Given the description of an element on the screen output the (x, y) to click on. 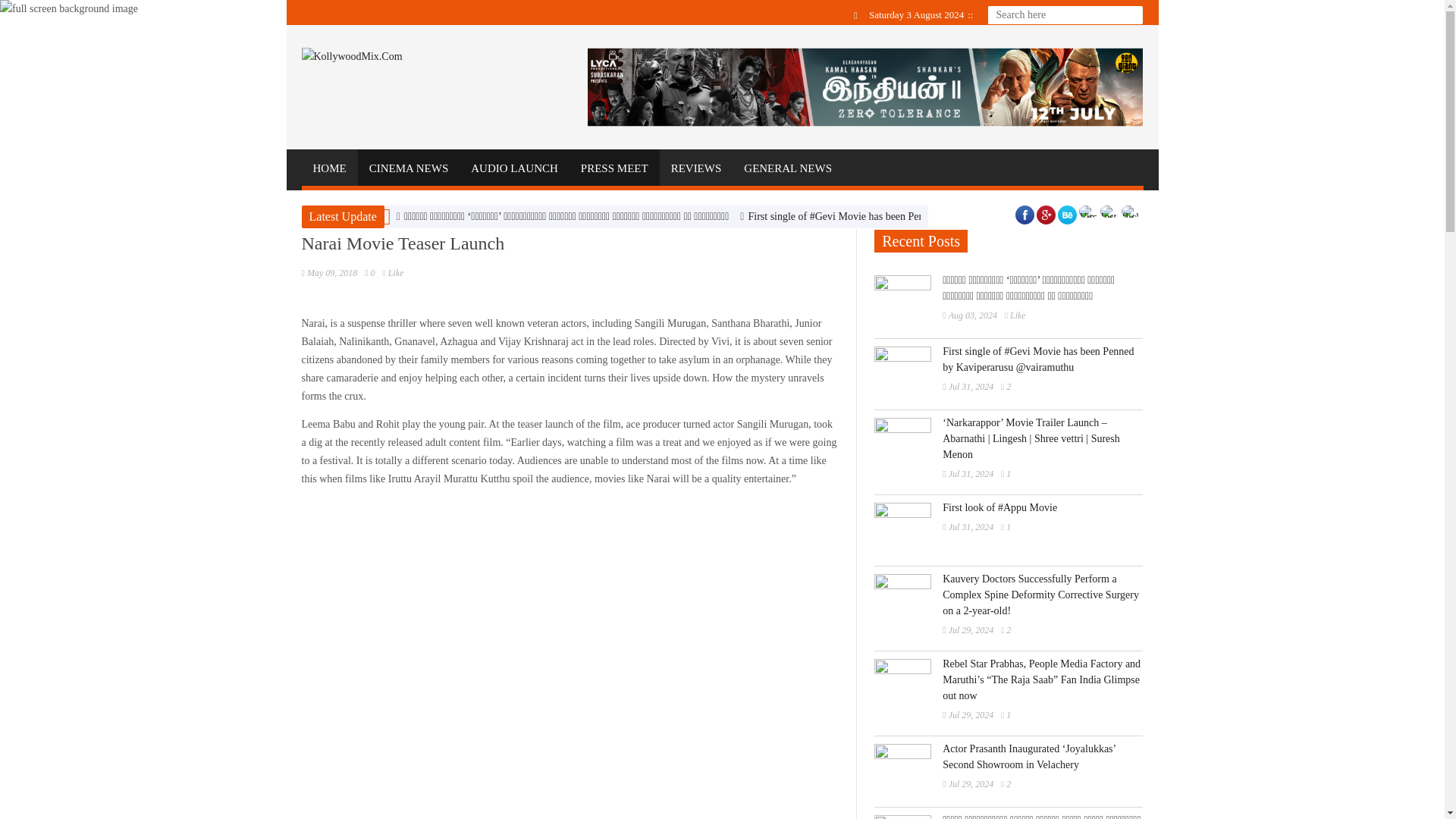
GENERAL NEWS (787, 168)
Like (1005, 526)
HOME (329, 168)
Like (393, 272)
AUDIO LAUNCH (514, 168)
Like (1005, 629)
Like (1005, 386)
REVIEWS (696, 168)
PRESS MEET (614, 168)
Like (393, 272)
CINEMA NEWS (409, 168)
Like (1015, 315)
Like (1005, 473)
0 (369, 272)
